Given the description of an element on the screen output the (x, y) to click on. 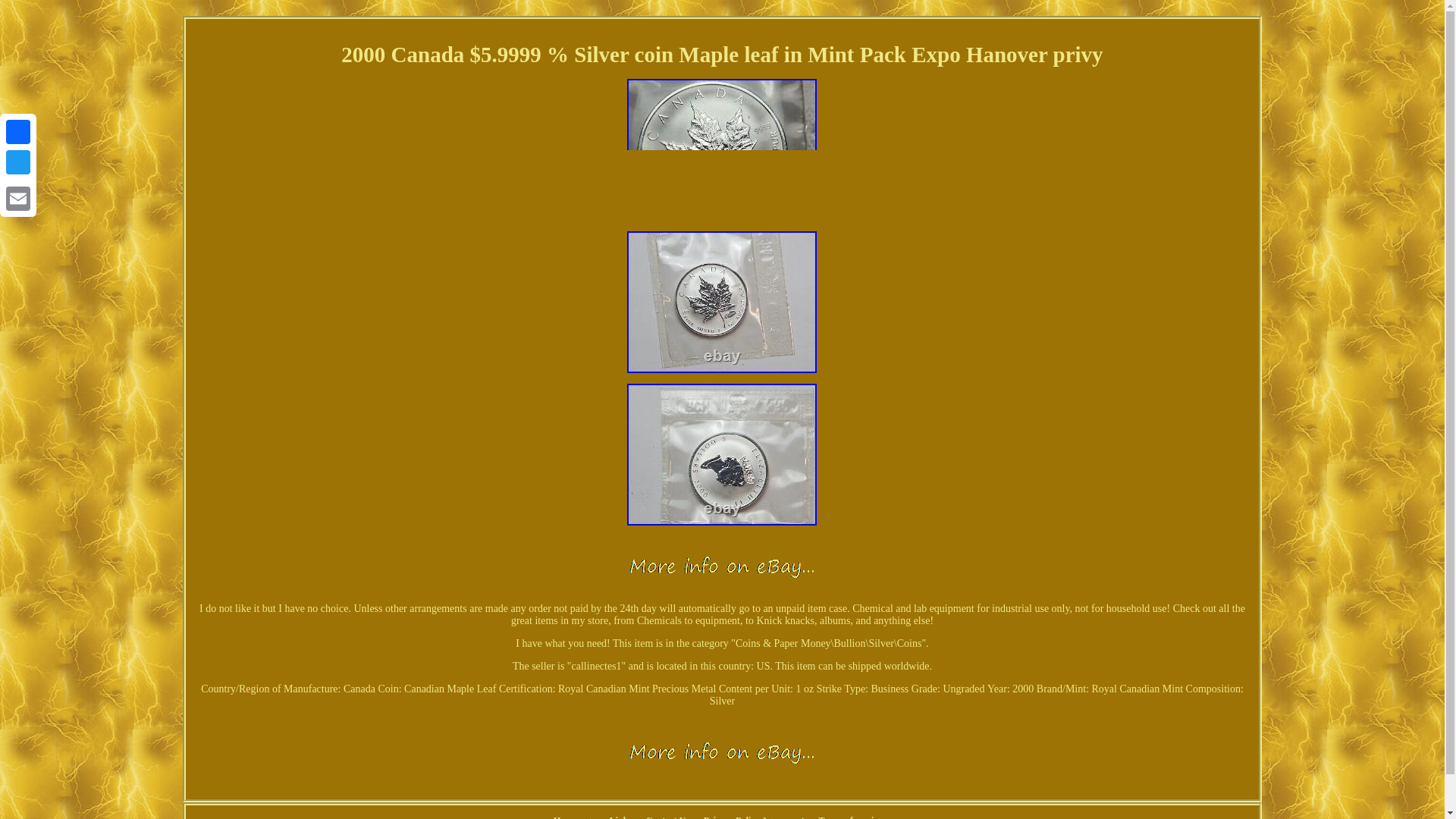
Twitter (17, 162)
Facebook (17, 132)
Email (17, 198)
